Given the description of an element on the screen output the (x, y) to click on. 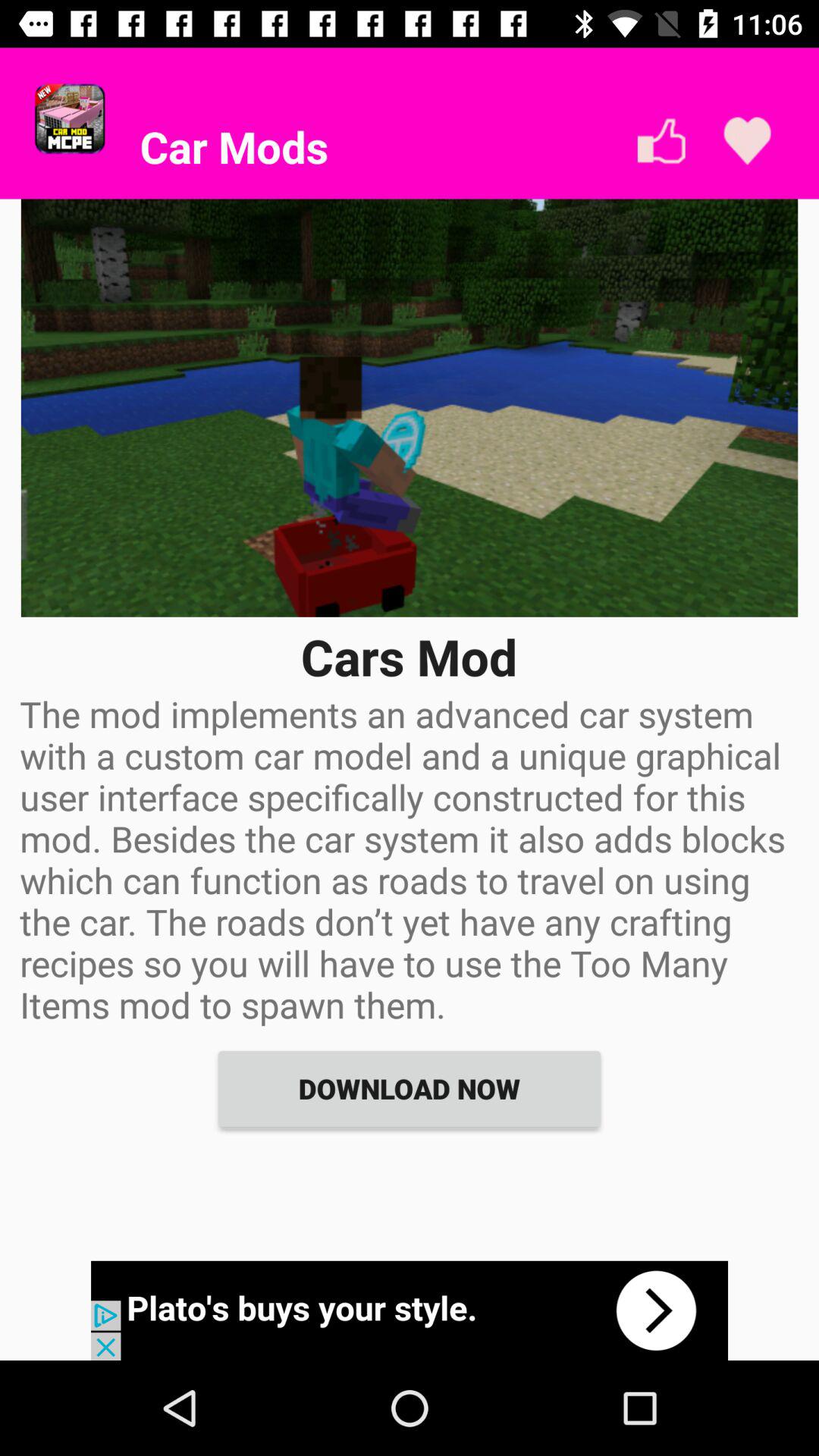
advertisement portion (409, 1310)
